Given the description of an element on the screen output the (x, y) to click on. 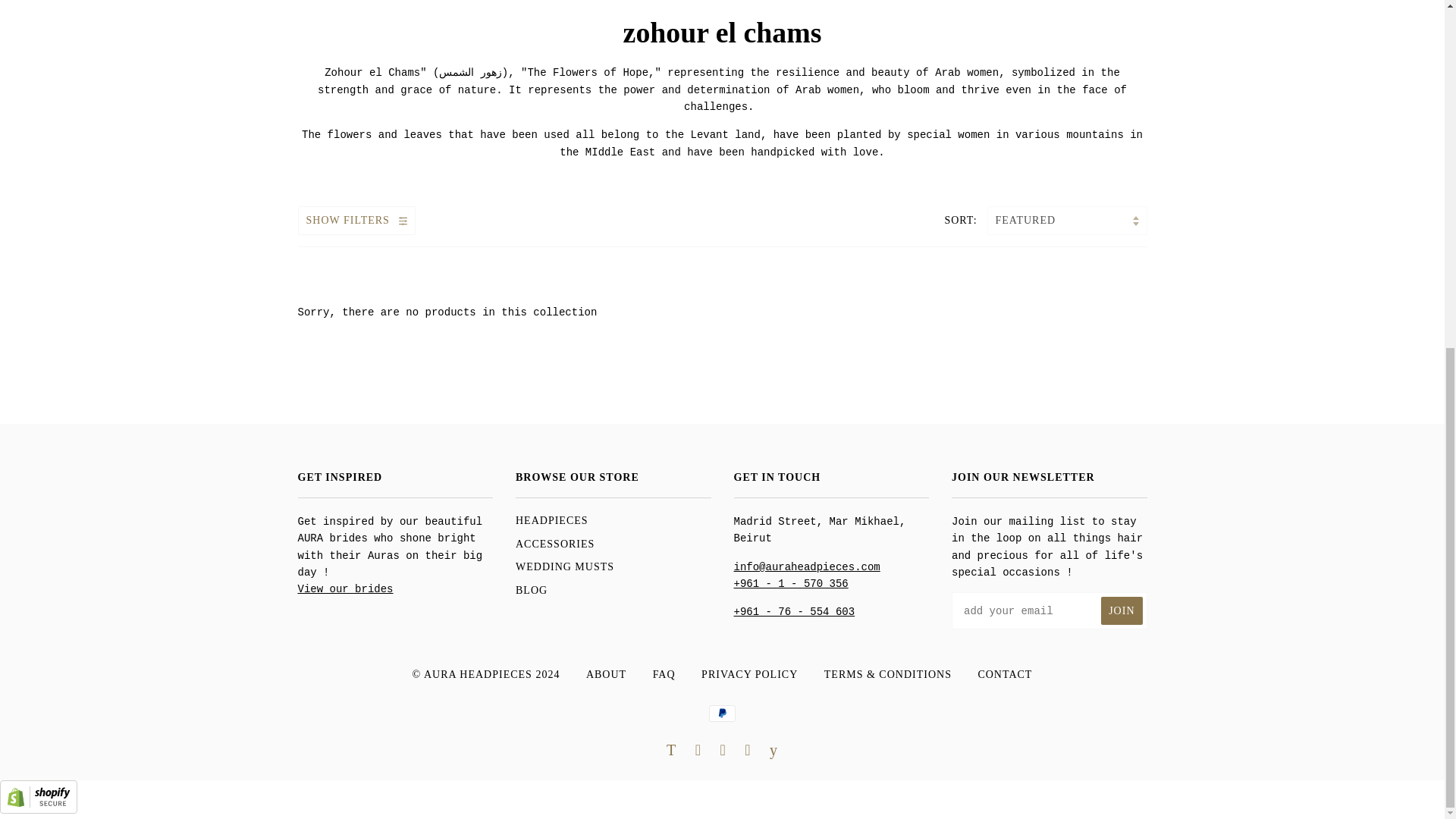
AURA Brides (345, 589)
AURA Headpieces Mobile Number (794, 612)
PAYPAL (722, 713)
Join (1120, 610)
AURA Headpieces Phone Number (790, 583)
